Given the description of an element on the screen output the (x, y) to click on. 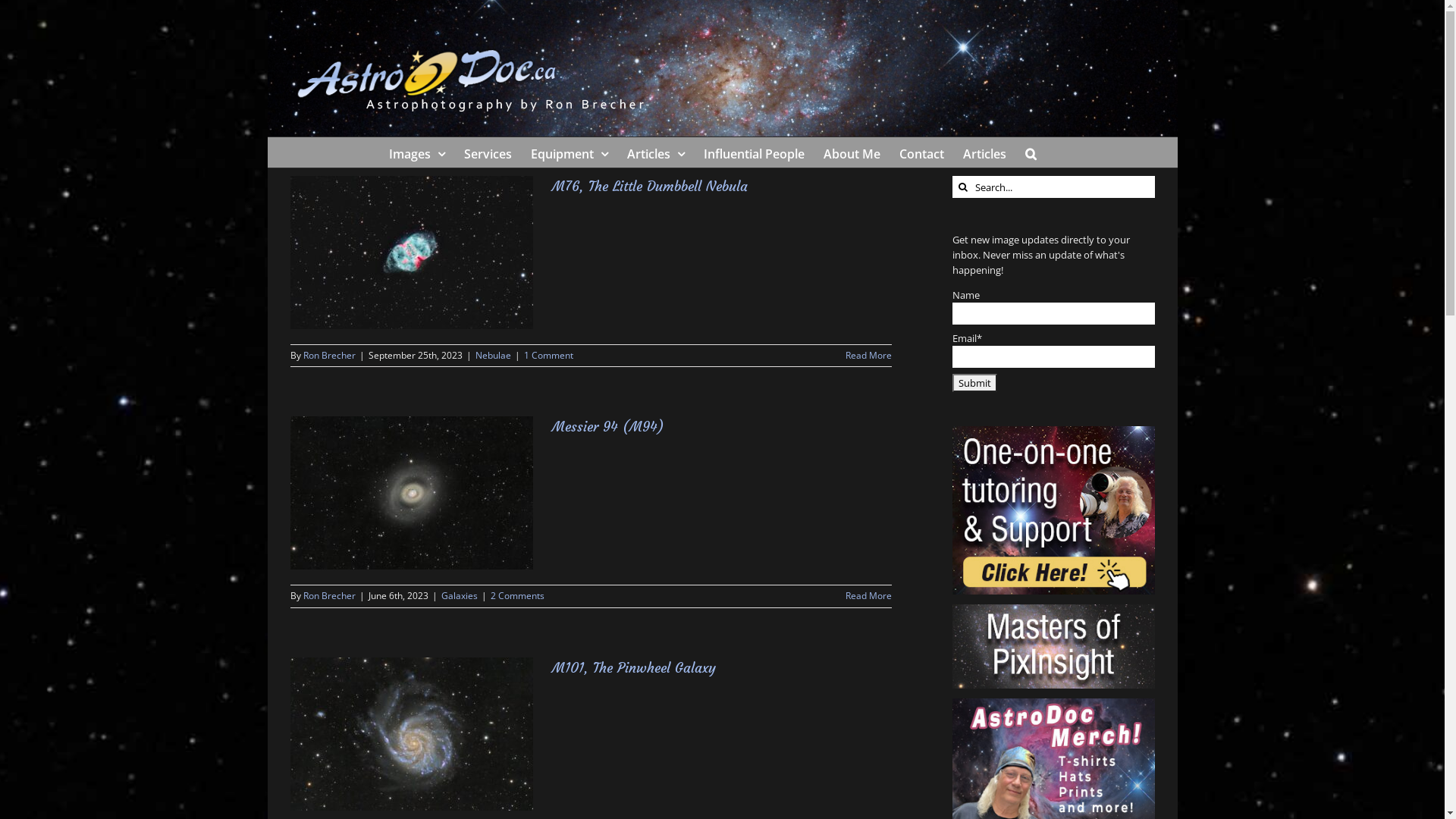
About Me Element type: text (851, 152)
Galaxies Element type: text (459, 595)
Read More Element type: text (868, 595)
Read More Element type: text (868, 354)
Contact Element type: text (921, 152)
Articles Element type: text (984, 152)
Equipment Element type: text (569, 152)
Search Element type: hover (1030, 152)
Articles Element type: text (655, 152)
Influential People Element type: text (753, 152)
Submit Element type: text (974, 382)
Images Element type: text (417, 152)
Ron Brecher Element type: text (329, 354)
1 Comment Element type: text (547, 354)
M101, The Pinwheel Galaxy Element type: text (633, 667)
2 Comments Element type: text (516, 595)
M76, The Little Dumbbell Nebula Element type: text (649, 185)
Messier 94 (M94) Element type: text (608, 426)
Nebulae Element type: text (492, 354)
Ron Brecher Element type: text (329, 595)
Services Element type: text (487, 152)
